Given the description of an element on the screen output the (x, y) to click on. 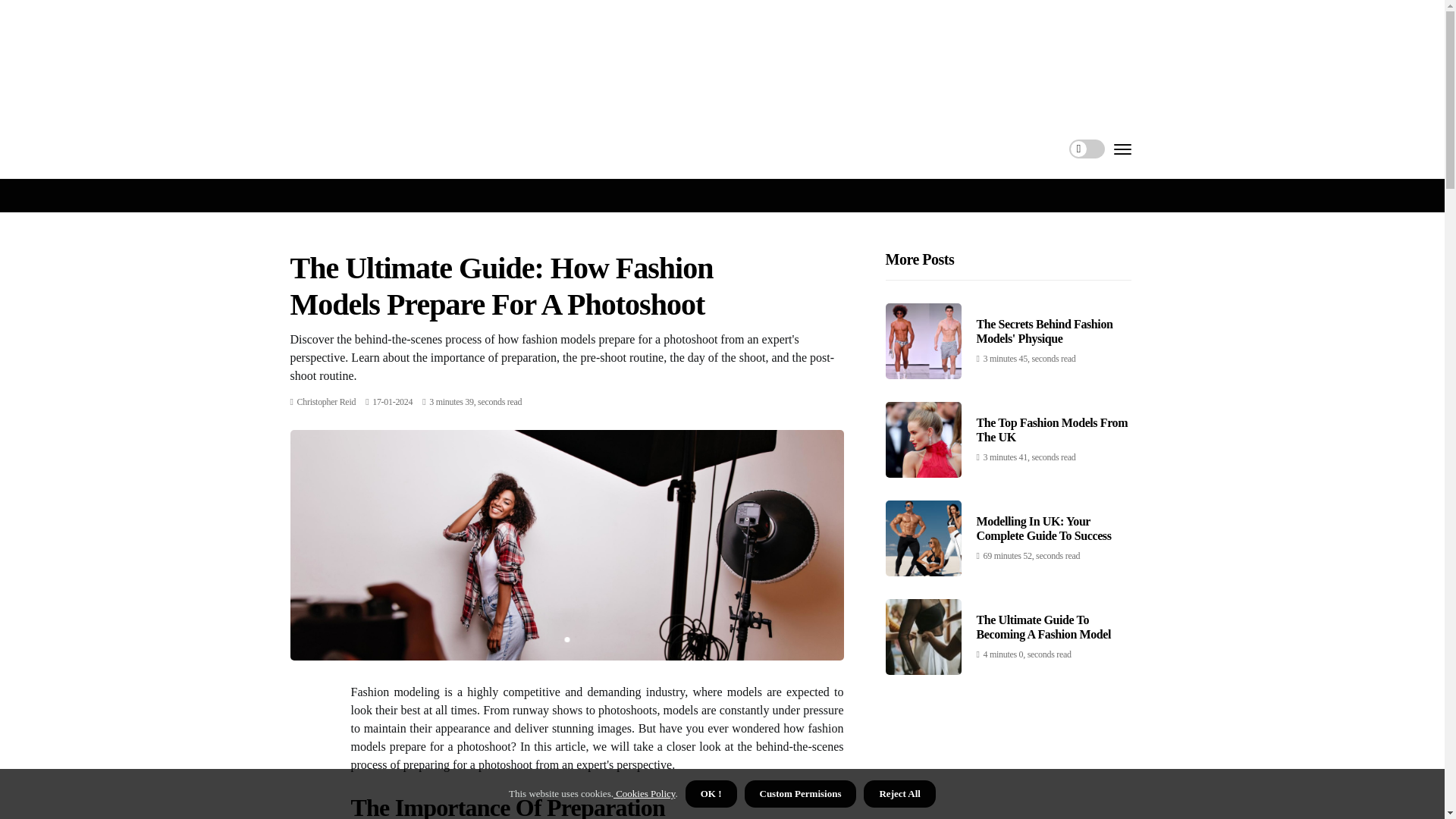
Christopher Reid (326, 400)
The Secrets Behind Fashion Models' Physique (1044, 330)
The Ultimate Guide To Becoming A Fashion Model (1044, 626)
The Top Fashion Models From The UK (1052, 429)
Modelling In UK: Your Complete Guide To Success (1044, 528)
Posts by Christopher Reid (326, 400)
